Given the description of an element on the screen output the (x, y) to click on. 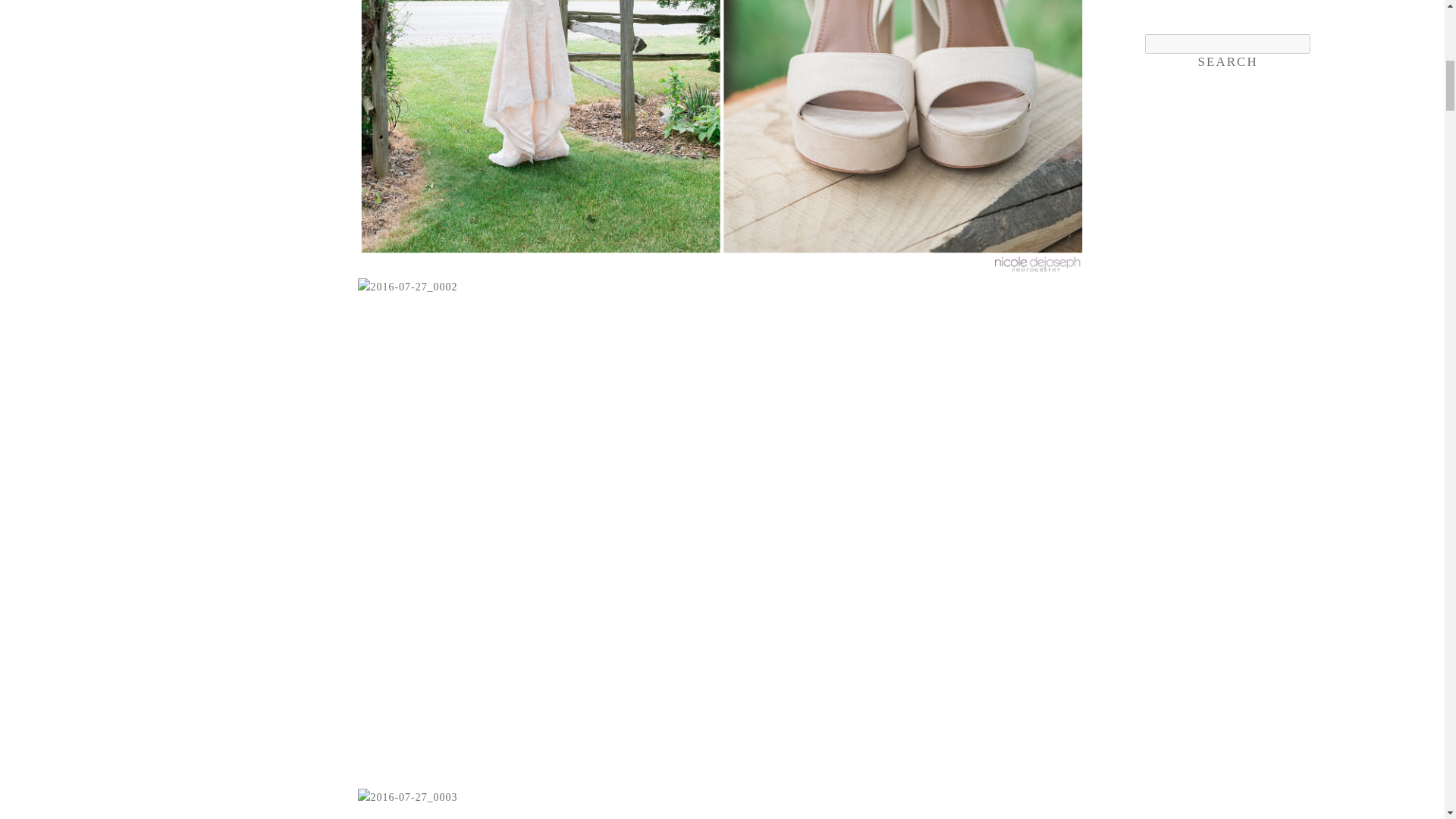
Search (1227, 62)
Search (1227, 62)
